Given the description of an element on the screen output the (x, y) to click on. 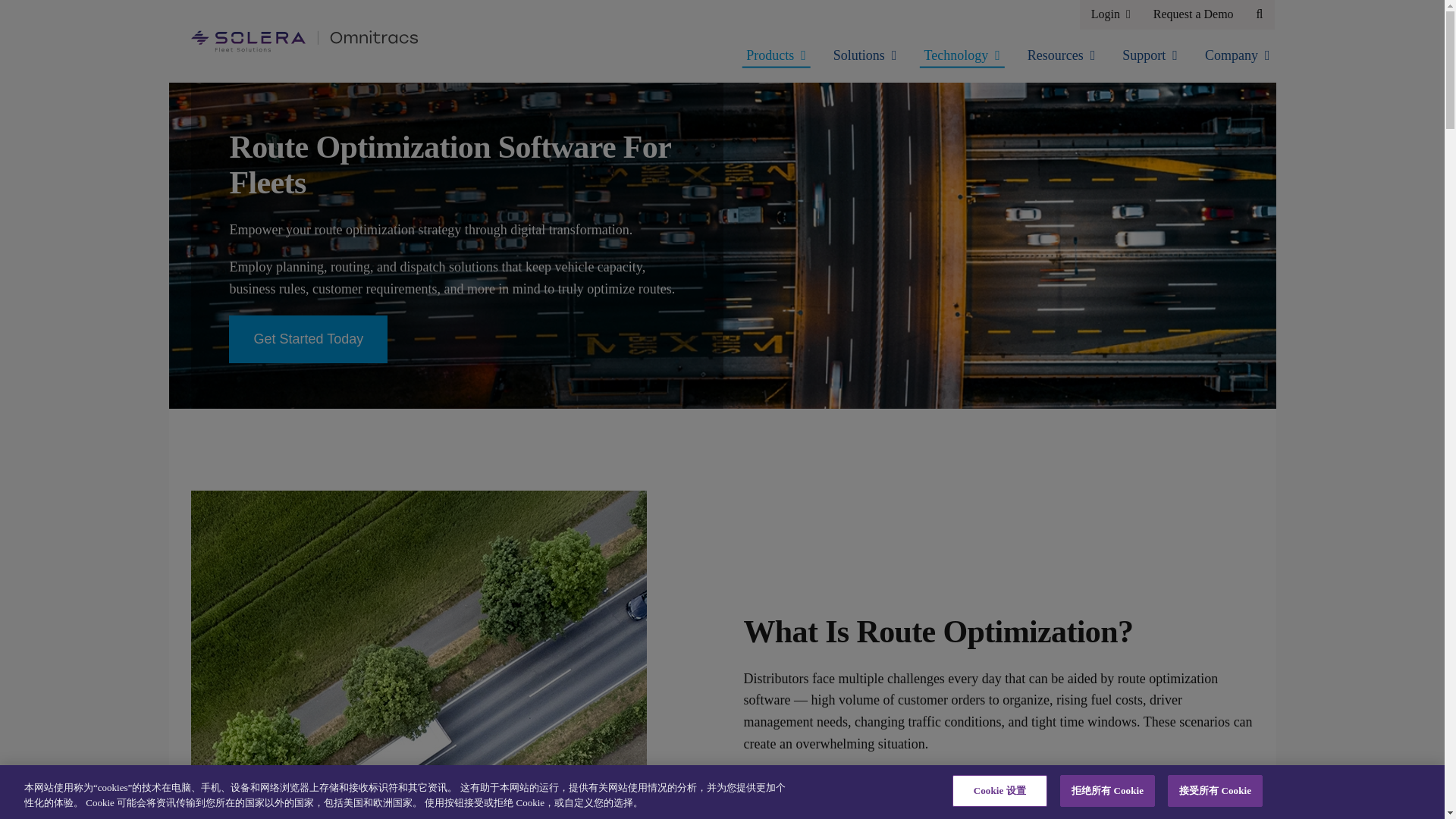
Site Search (1259, 14)
Request a Demo (1192, 14)
Products (775, 56)
Login (1110, 14)
